Given the description of an element on the screen output the (x, y) to click on. 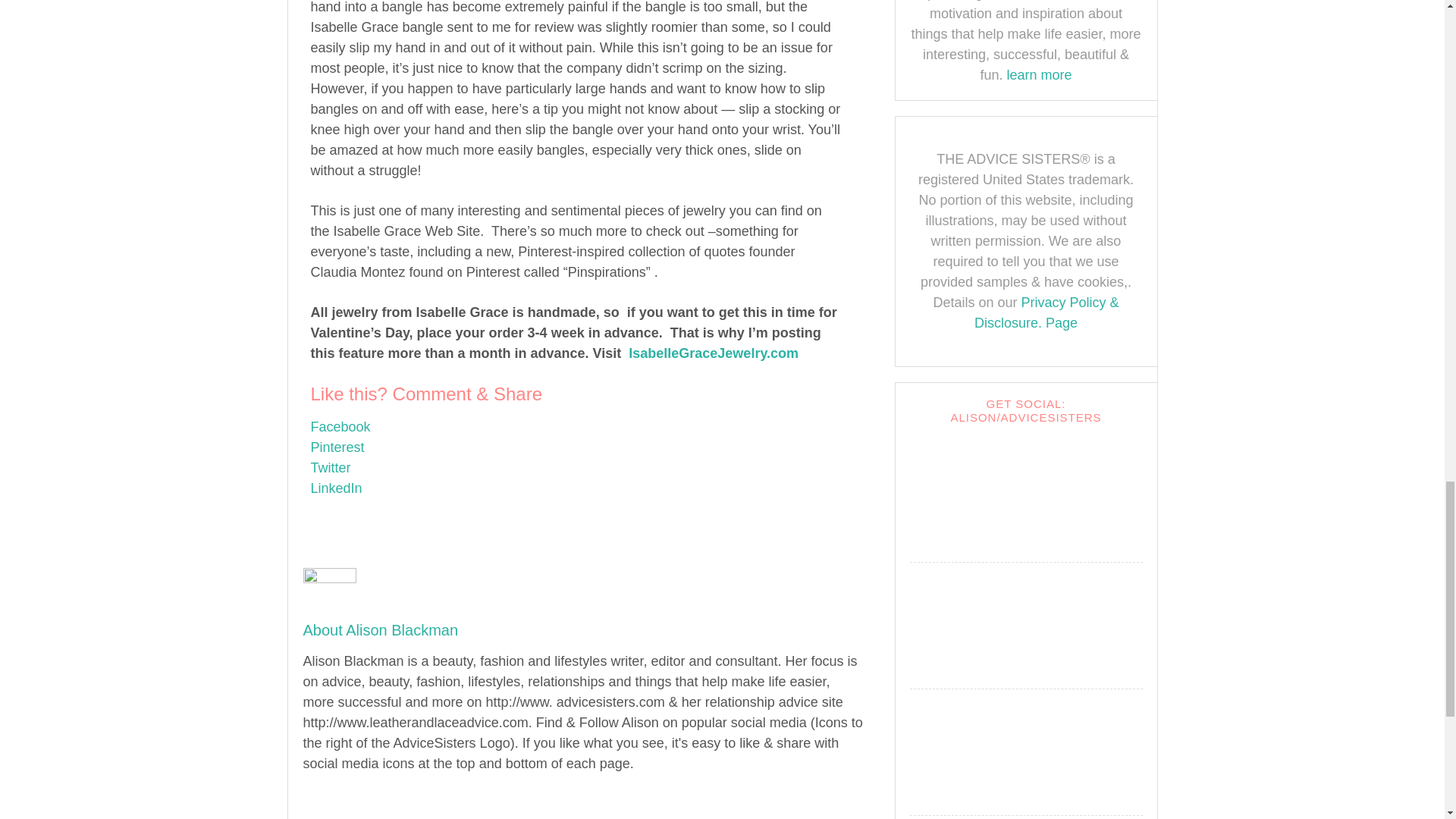
Click to share on Pinterest (338, 447)
Click to share on Facebook (341, 426)
Click to share on LinkedIn (336, 488)
Click to share on Twitter (330, 467)
